Given the description of an element on the screen output the (x, y) to click on. 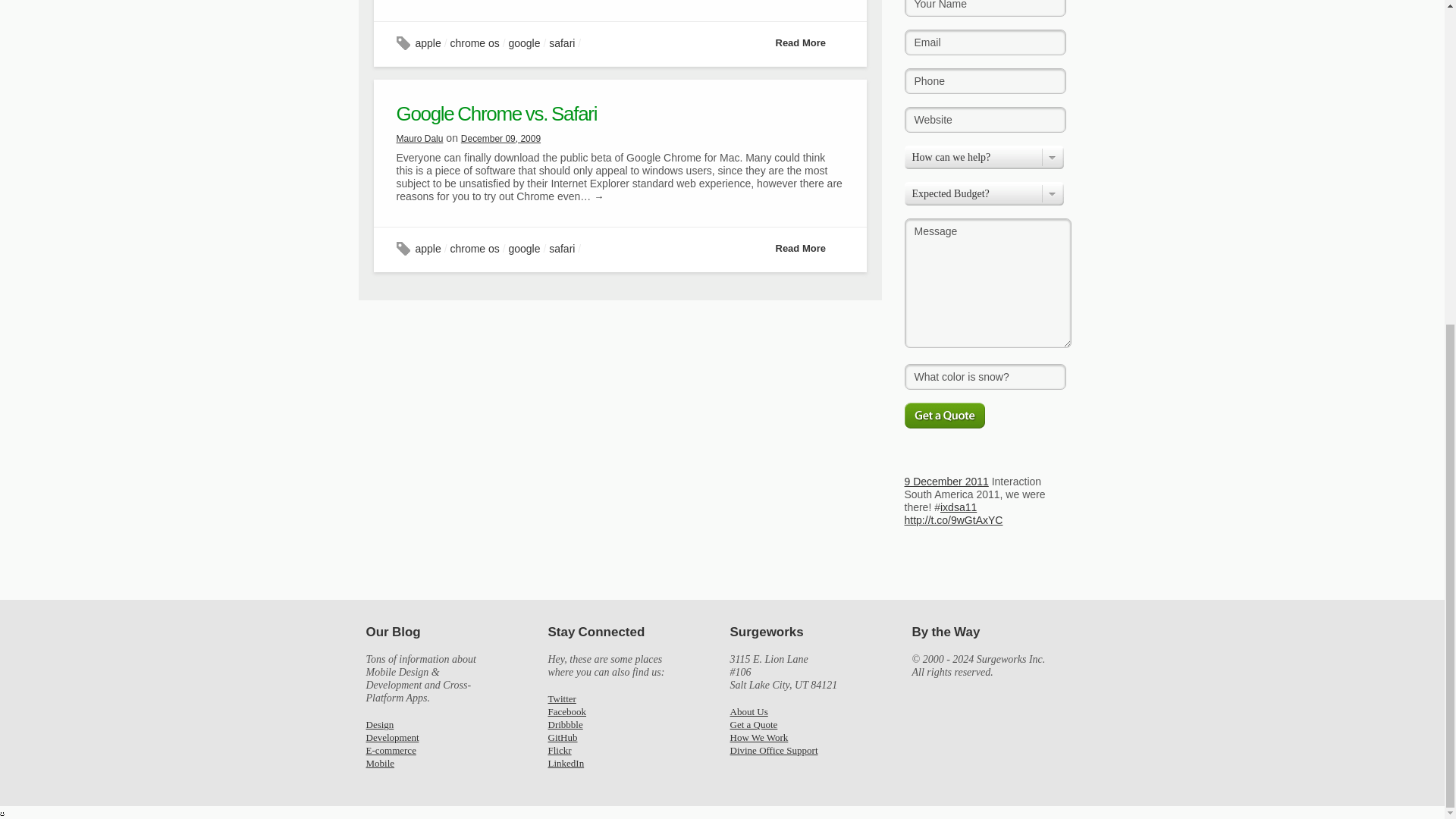
Read More (808, 42)
chrome os (474, 42)
google (524, 248)
chrome os (474, 248)
Google Chrome vs. Safari (496, 113)
google (524, 42)
Google Chrome vs. Safari (496, 113)
safari (561, 42)
Mauro Dalu (419, 138)
apple (427, 248)
